Given the description of an element on the screen output the (x, y) to click on. 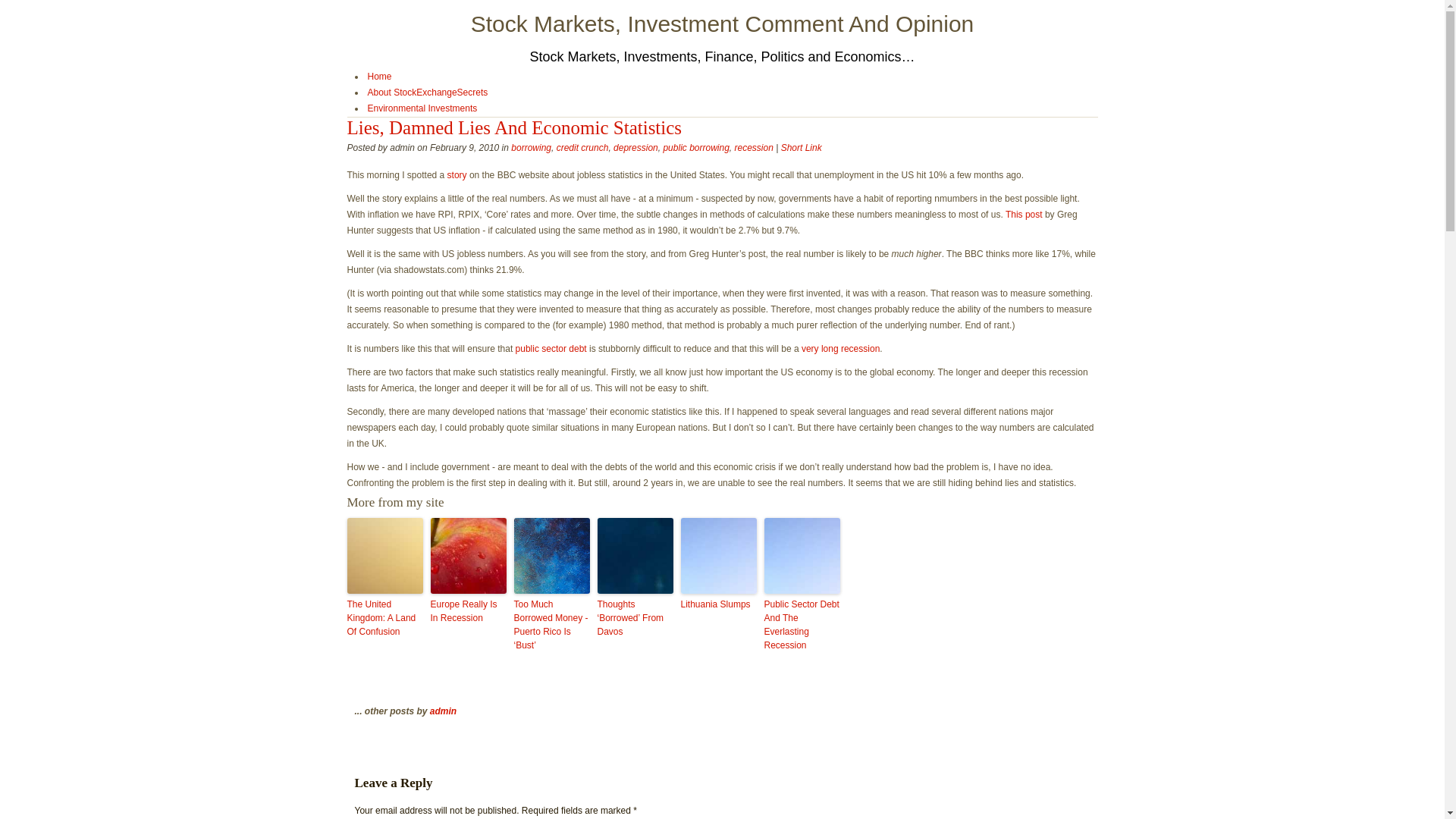
Lies, Damned Lies And Economic Statistics (801, 147)
The United Kingdom: A Land Of Confusion (385, 617)
admin (443, 710)
Stock Markets, Investment Comment And Opinion (722, 23)
Public Sector Debt And The Everlasting Recession (802, 624)
Europe Really Is In Recession (468, 610)
Stock Markets, Investment Comment And Opinion (722, 23)
Lithuania Slumps (719, 603)
credit crunch (582, 147)
Short Link (801, 147)
About StockExchangeSecrets (426, 91)
public sector debt (550, 348)
recession (753, 147)
Lies, Damned Lies And Economic Statistics (514, 127)
Home (378, 76)
